Given the description of an element on the screen output the (x, y) to click on. 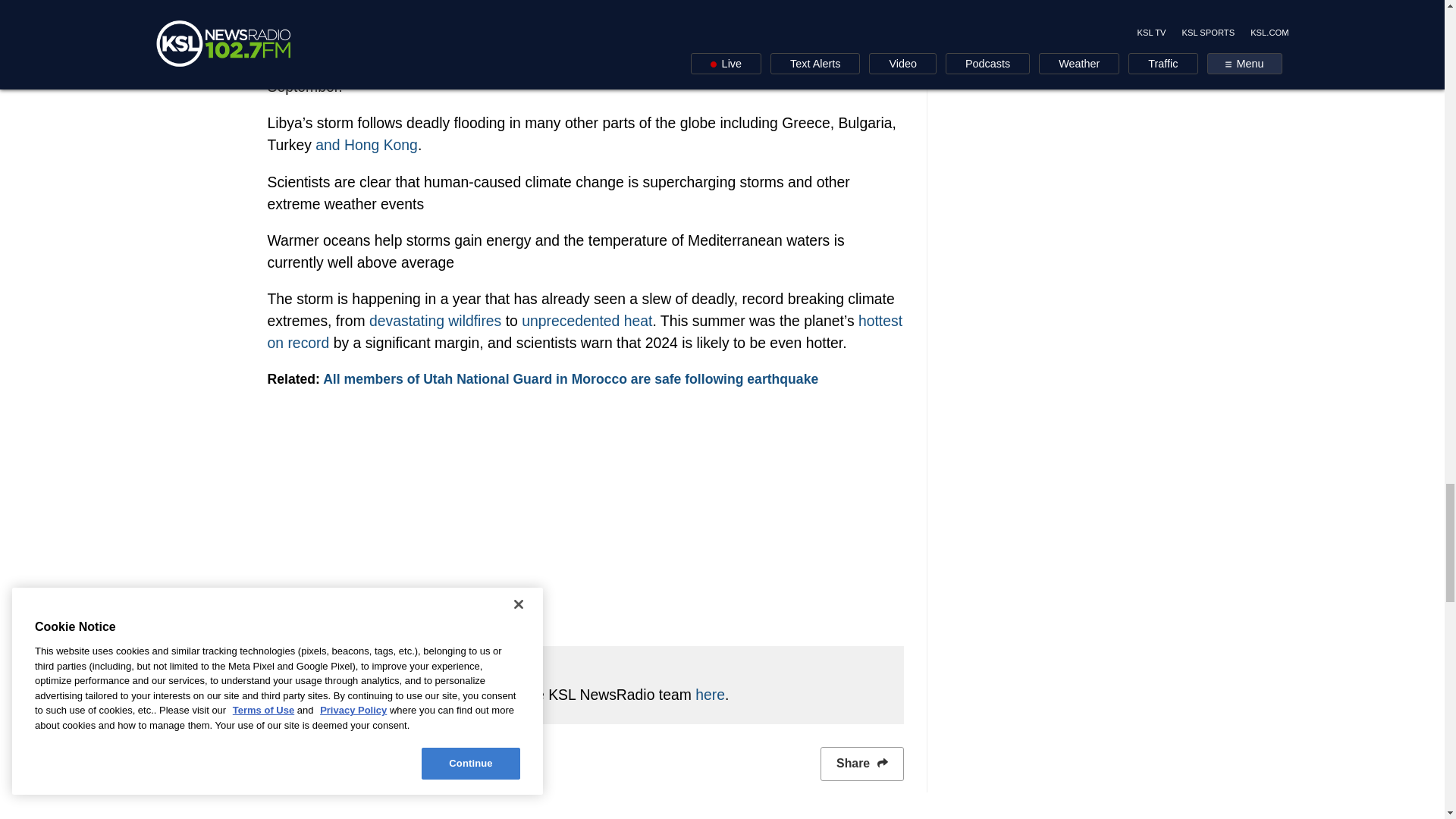
Signup Widget Embed (584, 529)
